Given the description of an element on the screen output the (x, y) to click on. 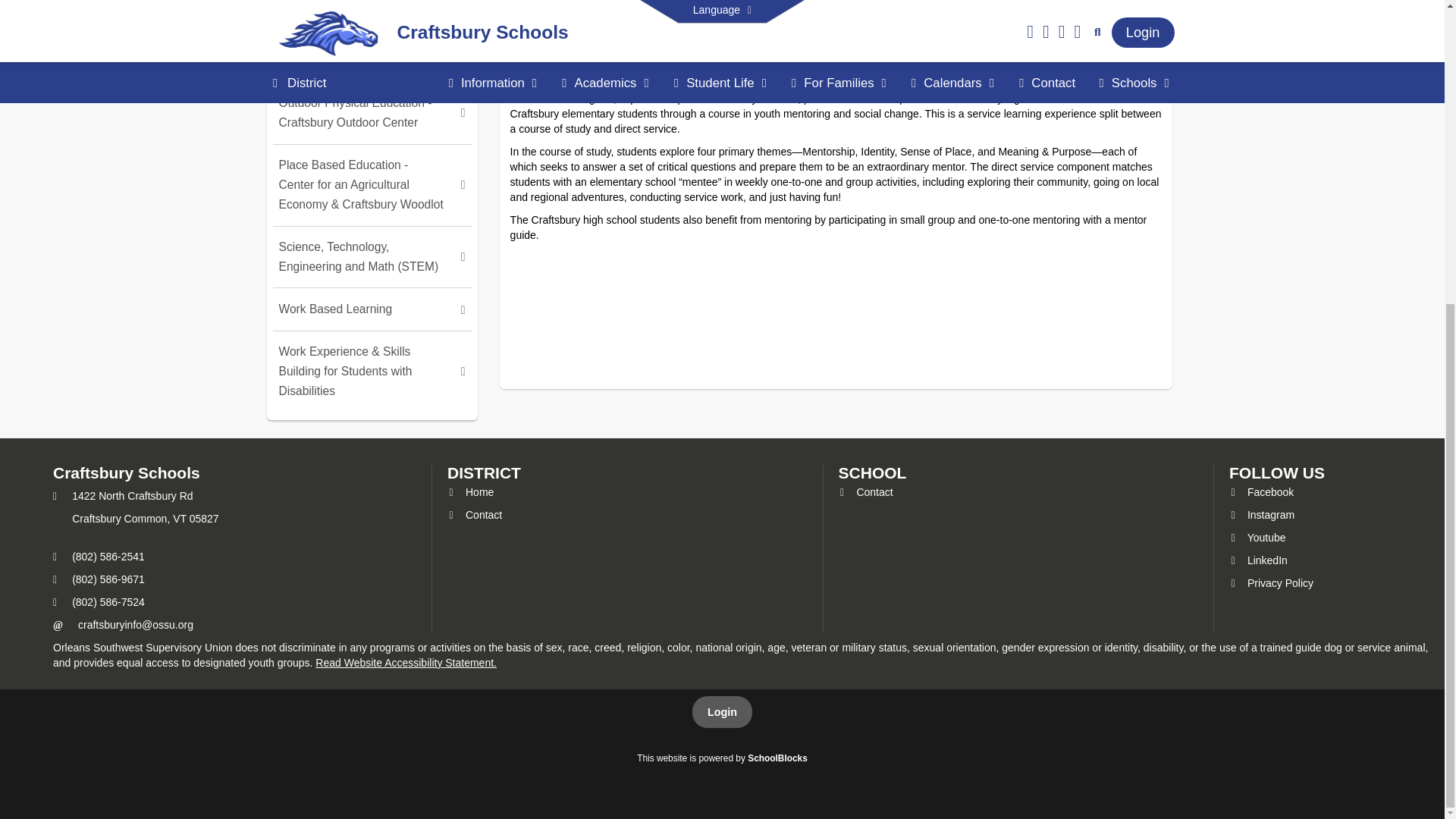
making ornaments (836, 21)
Fax (54, 602)
Facebook (1261, 491)
Privacy Policy (1270, 582)
Youtube (1256, 537)
Primary Phone Number (54, 556)
Work Based Learning (372, 308)
Email (57, 624)
LinkedIn (1257, 560)
Instagram (1261, 514)
Secondary Phone Number (54, 579)
Outdoor Physical Education - Craftsbury Outdoor Center (372, 113)
Email (135, 624)
Home (469, 491)
Contact (865, 491)
